Given the description of an element on the screen output the (x, y) to click on. 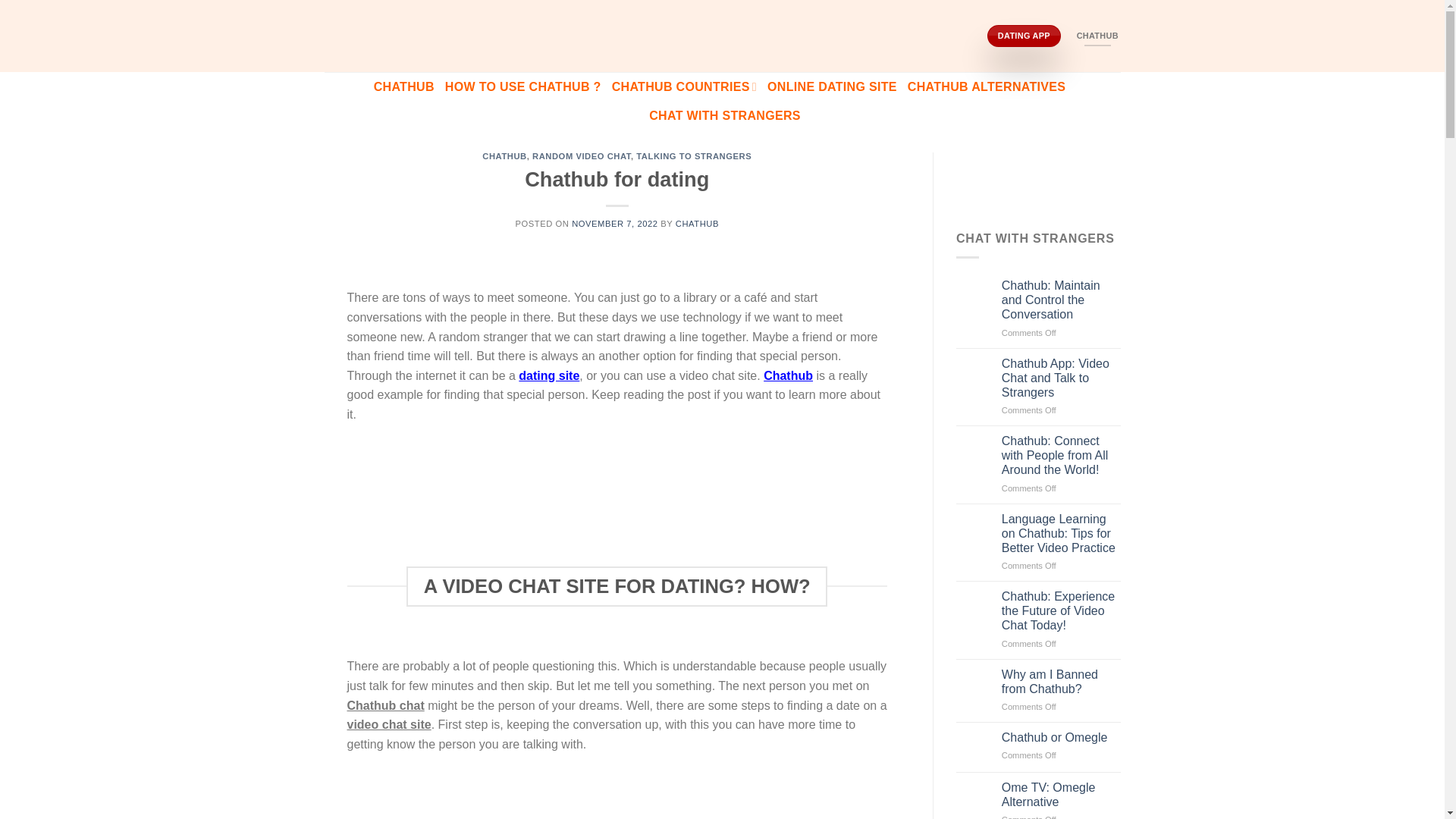
Chathub: Connect with People from All Around the World! (1061, 455)
dating site (548, 375)
Chathub or Omegle (1061, 737)
CHATHUB (403, 86)
Chathub: Experience the Future of Video Chat Today! (1061, 610)
Ome TV: Omegle Alternative (1061, 794)
Why am I Banned from Chathub? (1061, 681)
Chathub (787, 375)
Chathub - Chathub.chat (722, 36)
Language Learning on Chathub: Tips for Better Video Practice (1061, 533)
DATING APP (1024, 35)
HOW TO USE CHATHUB ? (523, 86)
Chathub: Maintain and Control the Conversation (1061, 300)
Chathub App: Video Chat and Talk to Strangers (1061, 378)
CHATHUB (1097, 35)
